Given the description of an element on the screen output the (x, y) to click on. 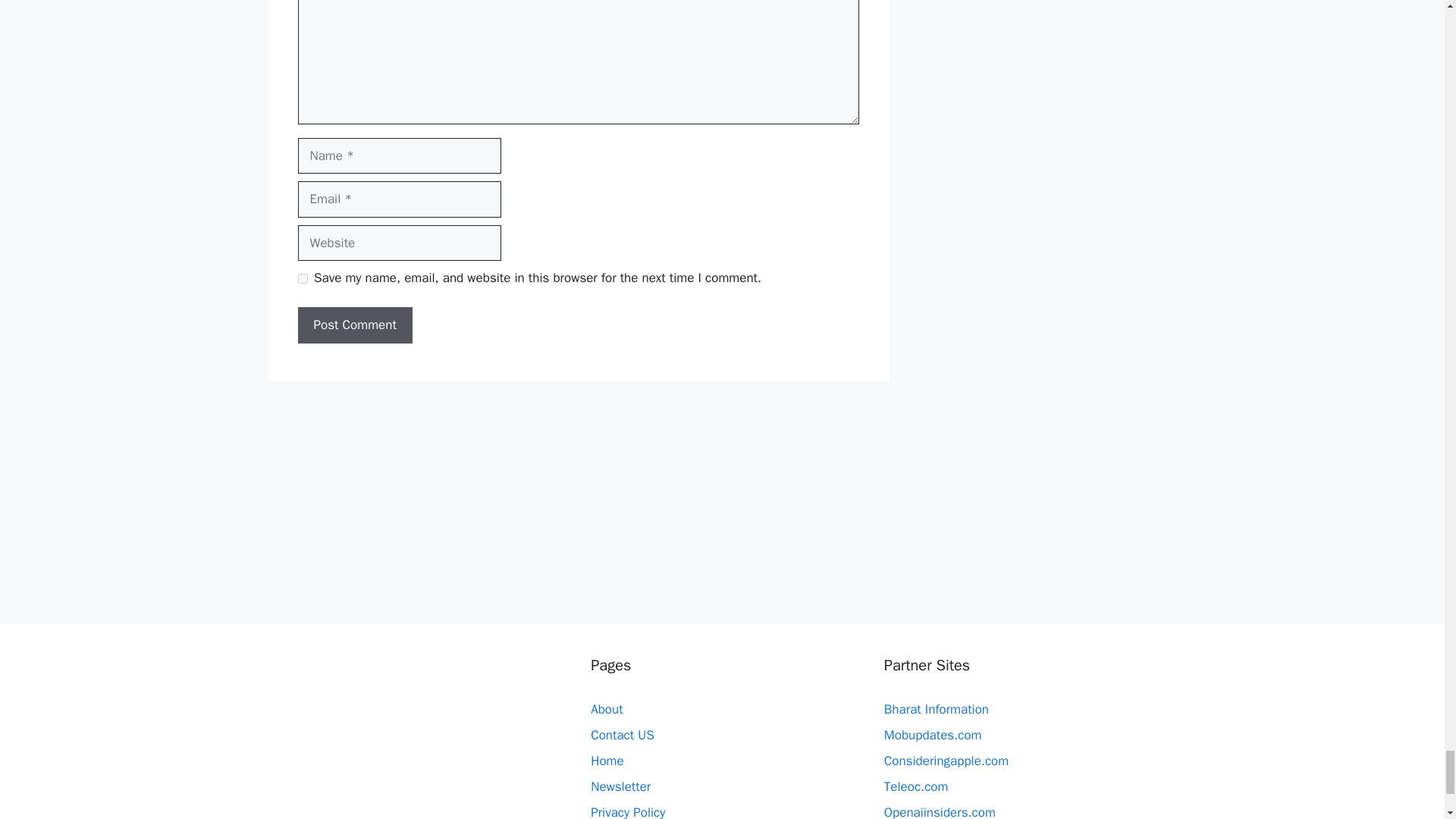
Post Comment (354, 325)
Home (607, 760)
Bharat Information (935, 709)
Openaiinsiders.com (939, 811)
Mobupdates.com (932, 734)
Contact US (622, 734)
Newsletter (620, 786)
Consideringapple.com (946, 760)
Privacy Policy (628, 811)
Teleoc.com (916, 786)
Post Comment (354, 325)
yes (302, 278)
About (607, 709)
